Given the description of an element on the screen output the (x, y) to click on. 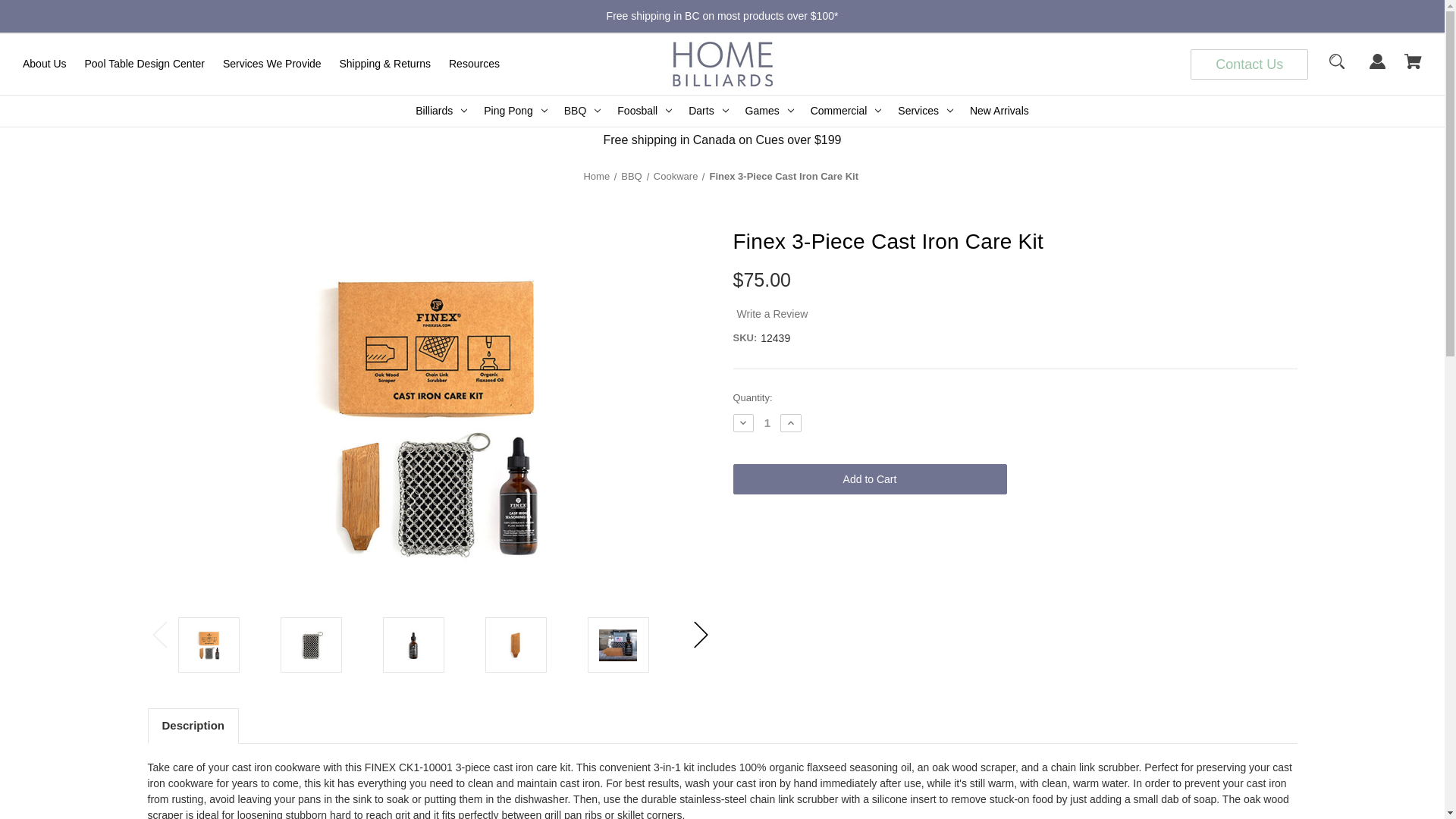
Billiards (441, 110)
Oak wood scrapper (515, 644)
MAGNIFYING GLASS IMAGE LARGE RED CIRCLE WITH A BLACK BORDER (1336, 67)
Ping Pong (516, 110)
scrubber,oil and scrapper (617, 644)
Home Billiards sales (721, 63)
1 (767, 422)
Finex 3-Piece Cast Iron Care Kit (208, 644)
BBQ (583, 110)
Facebook (950, 534)
Pinterest (1081, 534)
About Us (44, 64)
Contact Us (1249, 64)
Twitter (1048, 534)
